Given the description of an element on the screen output the (x, y) to click on. 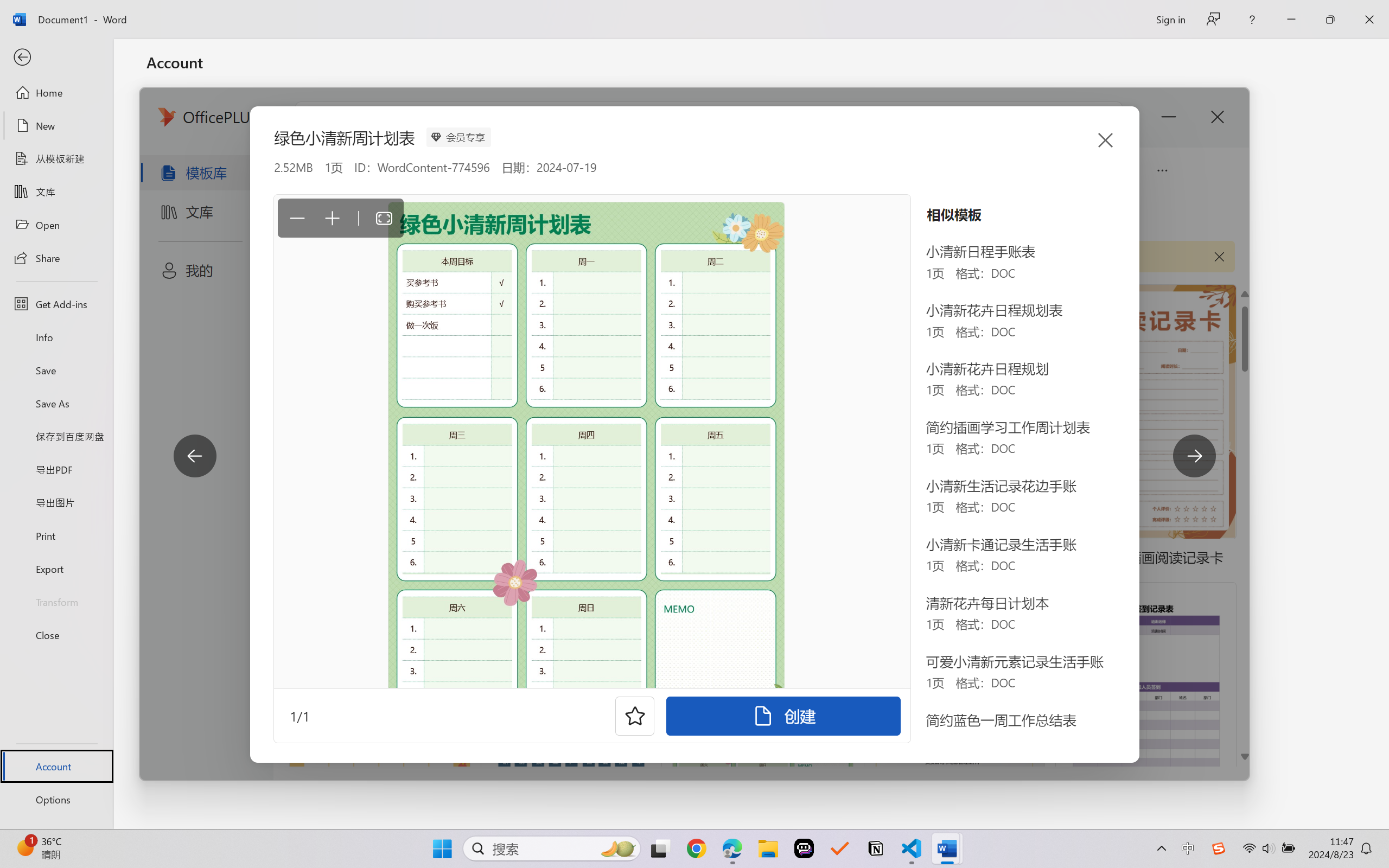
Sign in (1170, 18)
Transform (56, 601)
Get Add-ins (56, 303)
Sign In (183, 254)
